Given the description of an element on the screen output the (x, y) to click on. 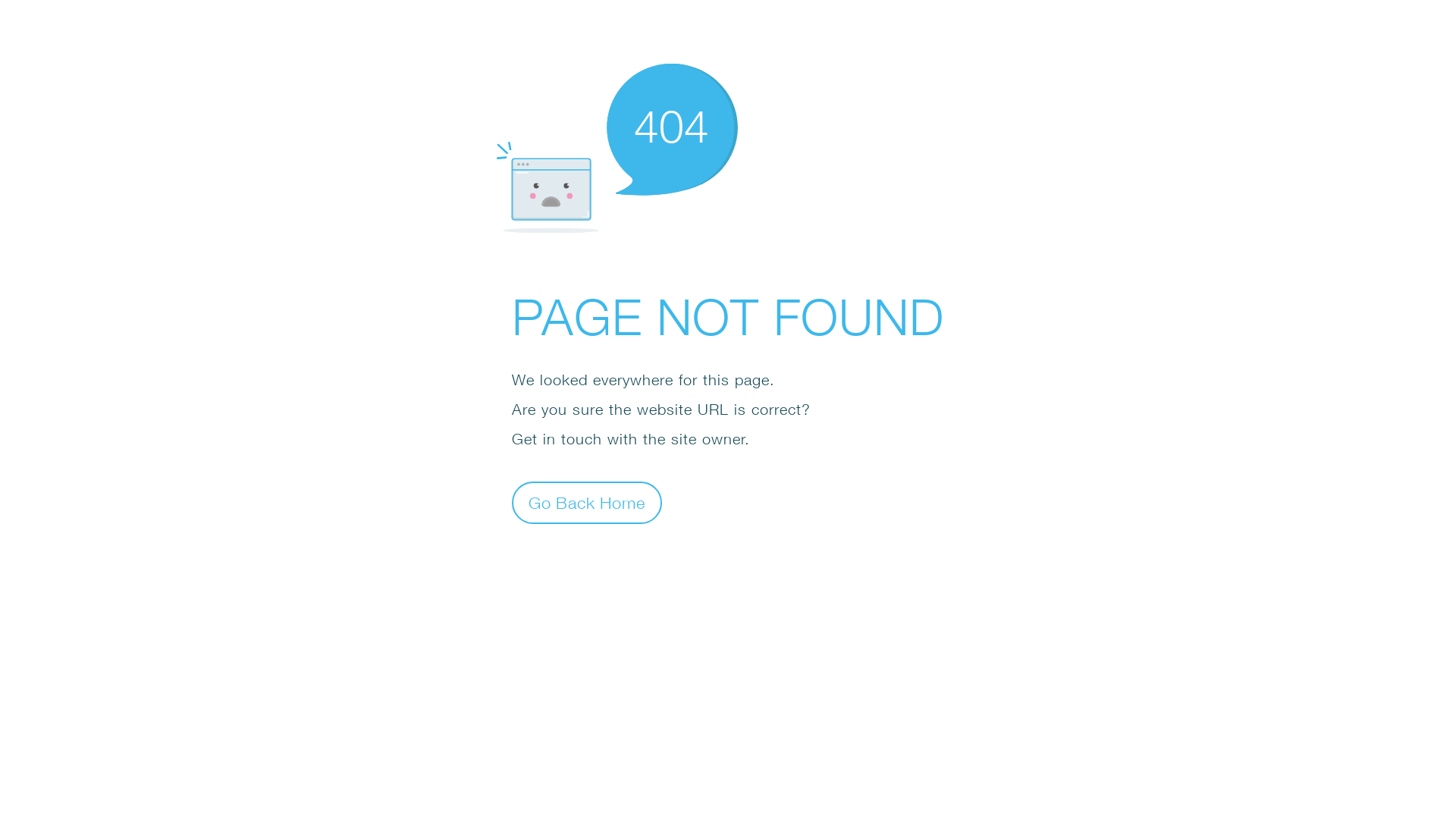
Go Back Home Element type: text (586, 502)
